Given the description of an element on the screen output the (x, y) to click on. 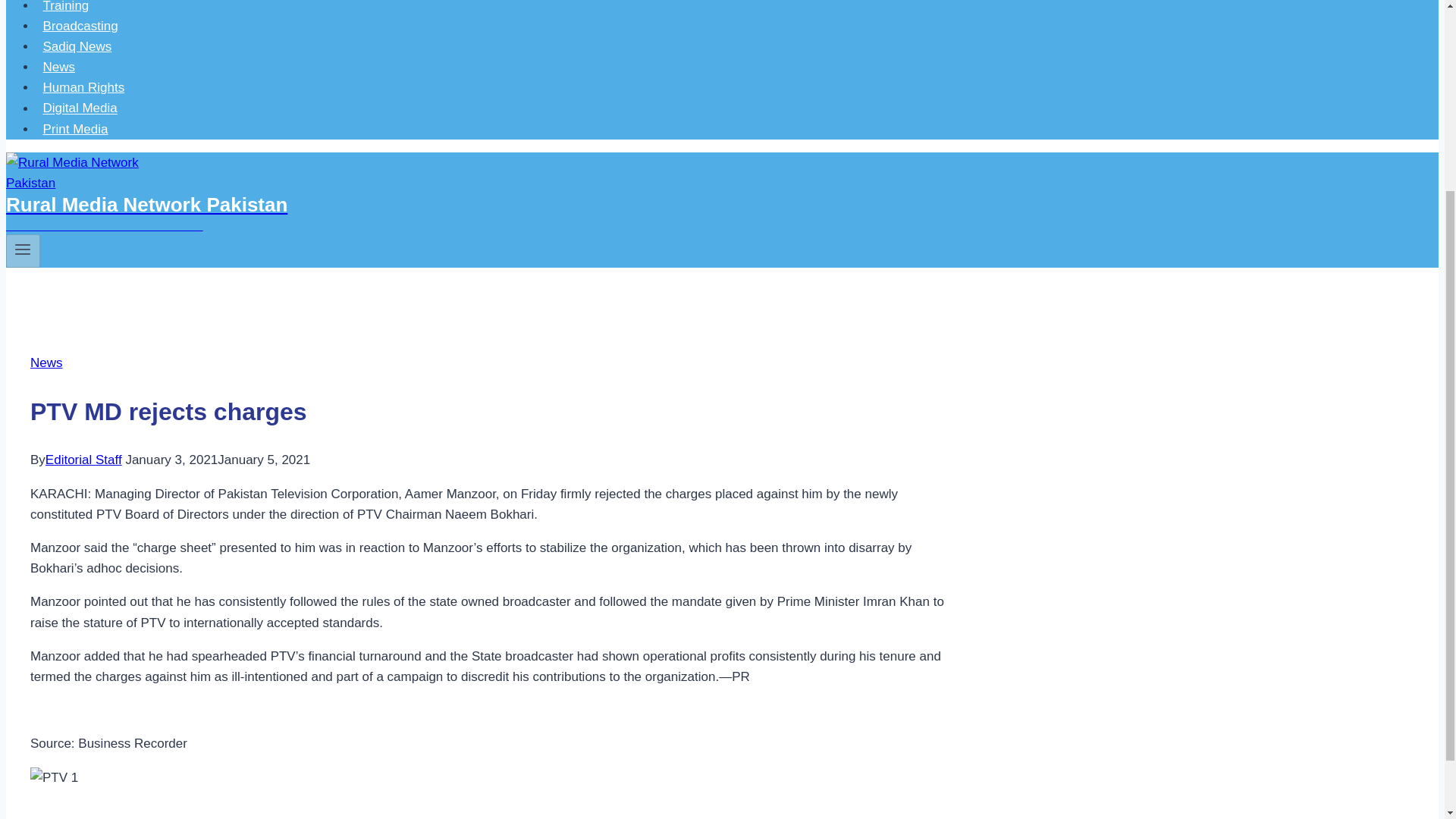
Toggle Menu (22, 250)
News (58, 66)
Print Media (75, 129)
Digital Media (79, 107)
Human Rights (83, 87)
News (46, 362)
PTV MD rejects charges 1 (54, 776)
Editorial Staff (83, 459)
Broadcasting (79, 25)
